Given the description of an element on the screen output the (x, y) to click on. 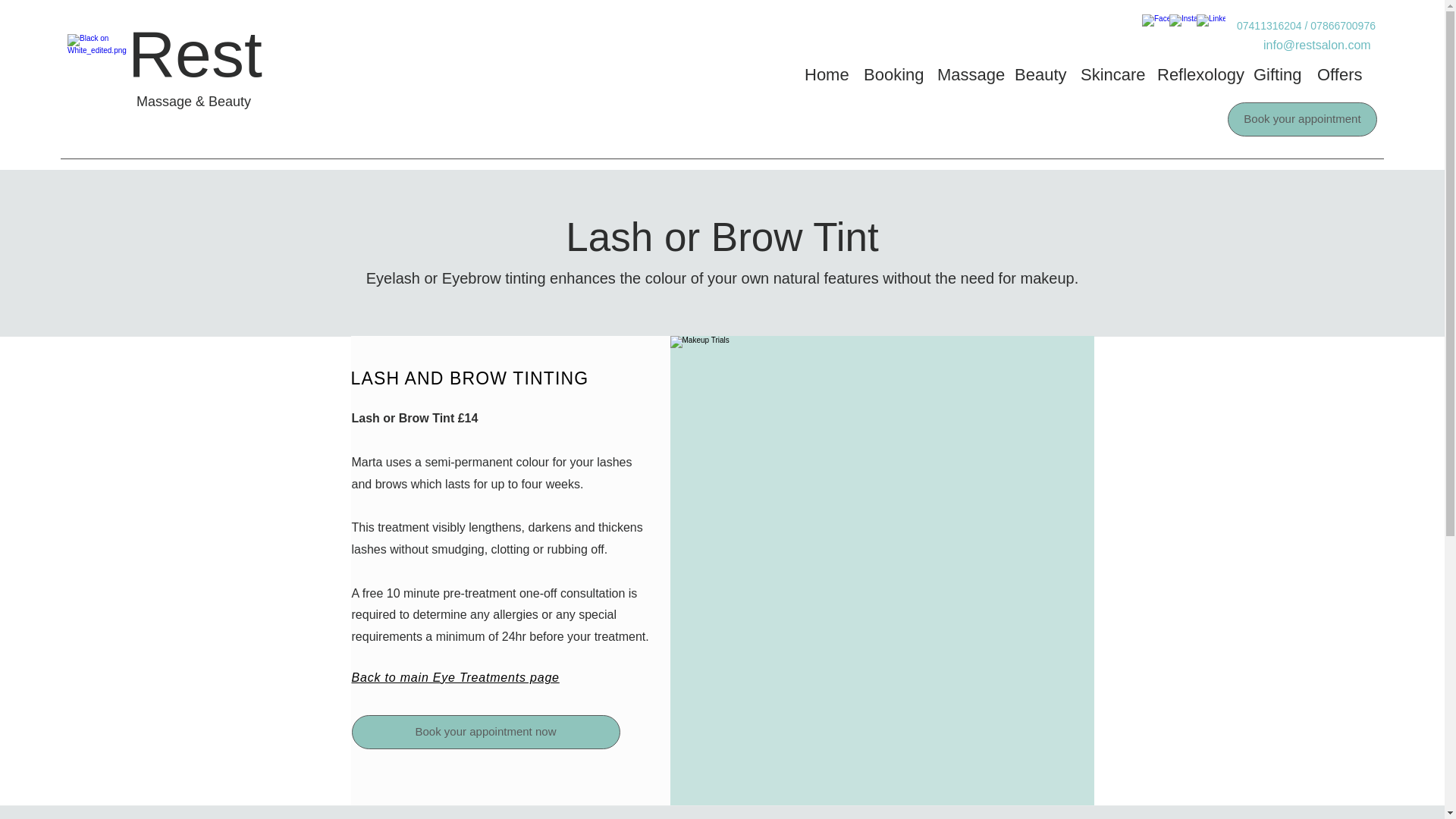
Offers (1339, 74)
Booking (893, 74)
Beauty (1040, 74)
Rest (195, 53)
Home (826, 74)
Back to main Eye Treatments page (455, 677)
Book your appointment now (486, 731)
Reflexology (1198, 74)
Book your appointment (1302, 119)
Massage (968, 74)
